Given the description of an element on the screen output the (x, y) to click on. 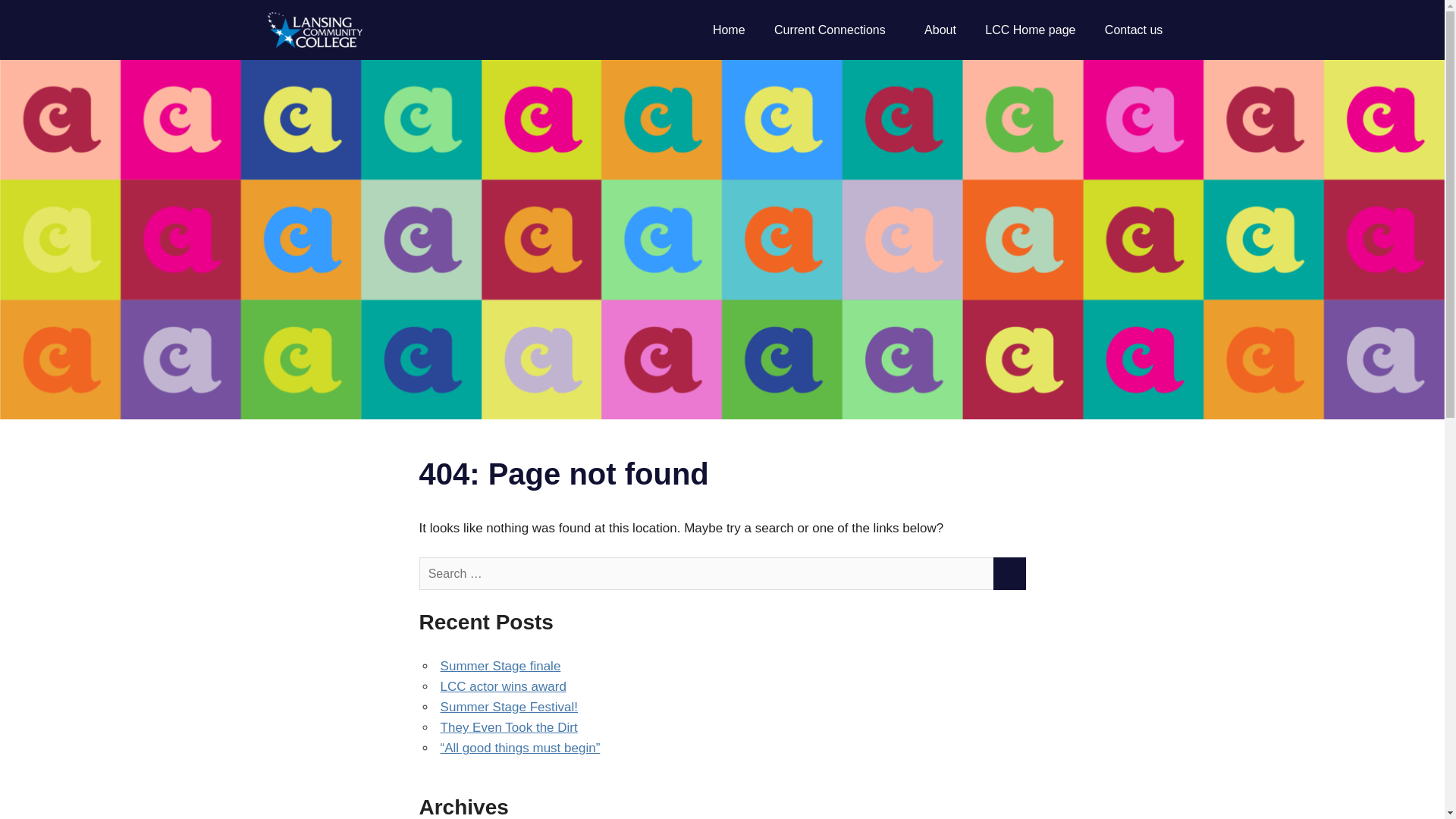
Summer Stage Festival! (509, 707)
SEARCH (1008, 572)
LCC actor wins award (503, 686)
Search for: (706, 572)
Current Connections (835, 30)
Contact us (1133, 30)
LCC Home page (1030, 30)
About (940, 30)
Summer Stage finale (500, 666)
Home (729, 30)
They Even Took the Dirt (509, 727)
